Given the description of an element on the screen output the (x, y) to click on. 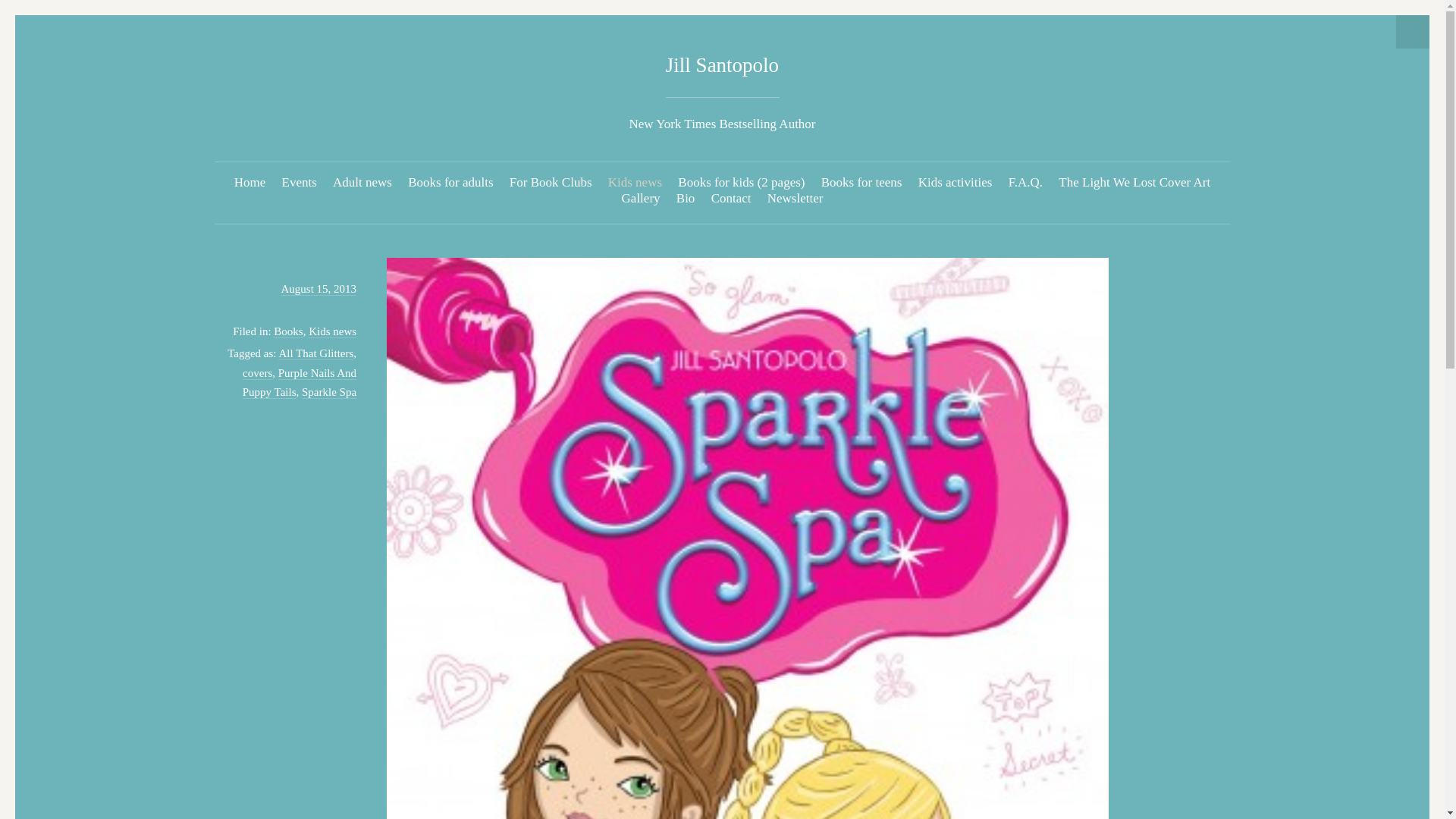
Sparkle Spa (328, 391)
Go to Home (721, 65)
All That Glitters (315, 353)
Kids activities (955, 182)
Newsletter (795, 197)
Kids news (635, 182)
covers (257, 373)
Kids news (332, 331)
For Book Clubs (550, 182)
